Given the description of an element on the screen output the (x, y) to click on. 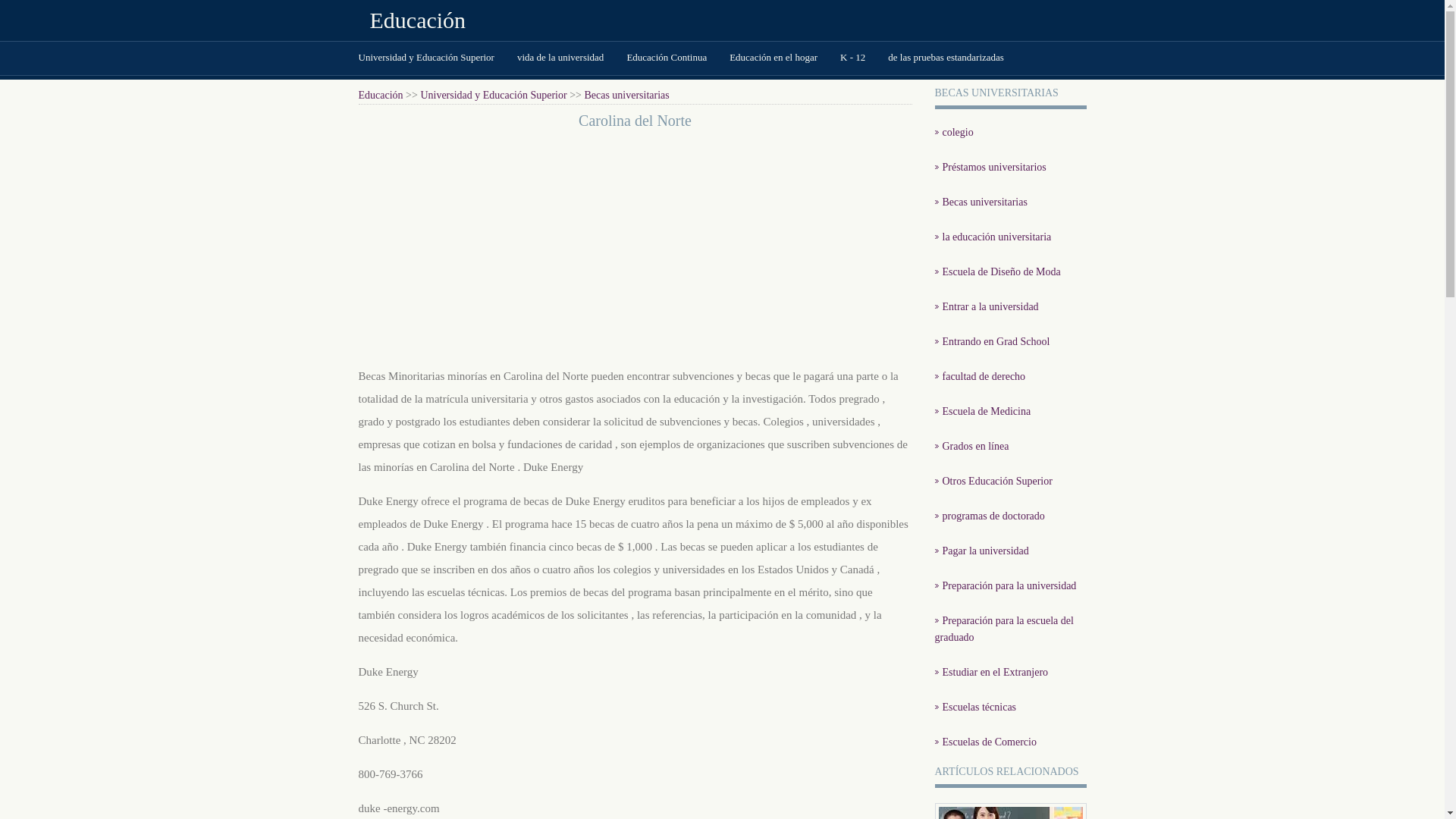
vida de la universidad Element type: text (560, 57)
Becas universitarias Element type: text (625, 94)
facultad de derecho Element type: text (979, 376)
Escuelas de Comercio Element type: text (984, 741)
programas de doctorado Element type: text (989, 515)
de las pruebas estandarizadas Element type: text (946, 57)
Becas universitarias Element type: text (980, 201)
Pagar la universidad Element type: text (981, 550)
Entrando en Grad School Element type: text (991, 341)
Entrar a la universidad Element type: text (986, 306)
colegio Element type: text (953, 132)
K - 12 Element type: text (852, 57)
Escuela de Medicina Element type: text (982, 411)
Estudiar en el Extranjero Element type: text (991, 671)
Advertisement Element type: hover (634, 247)
